Given the description of an element on the screen output the (x, y) to click on. 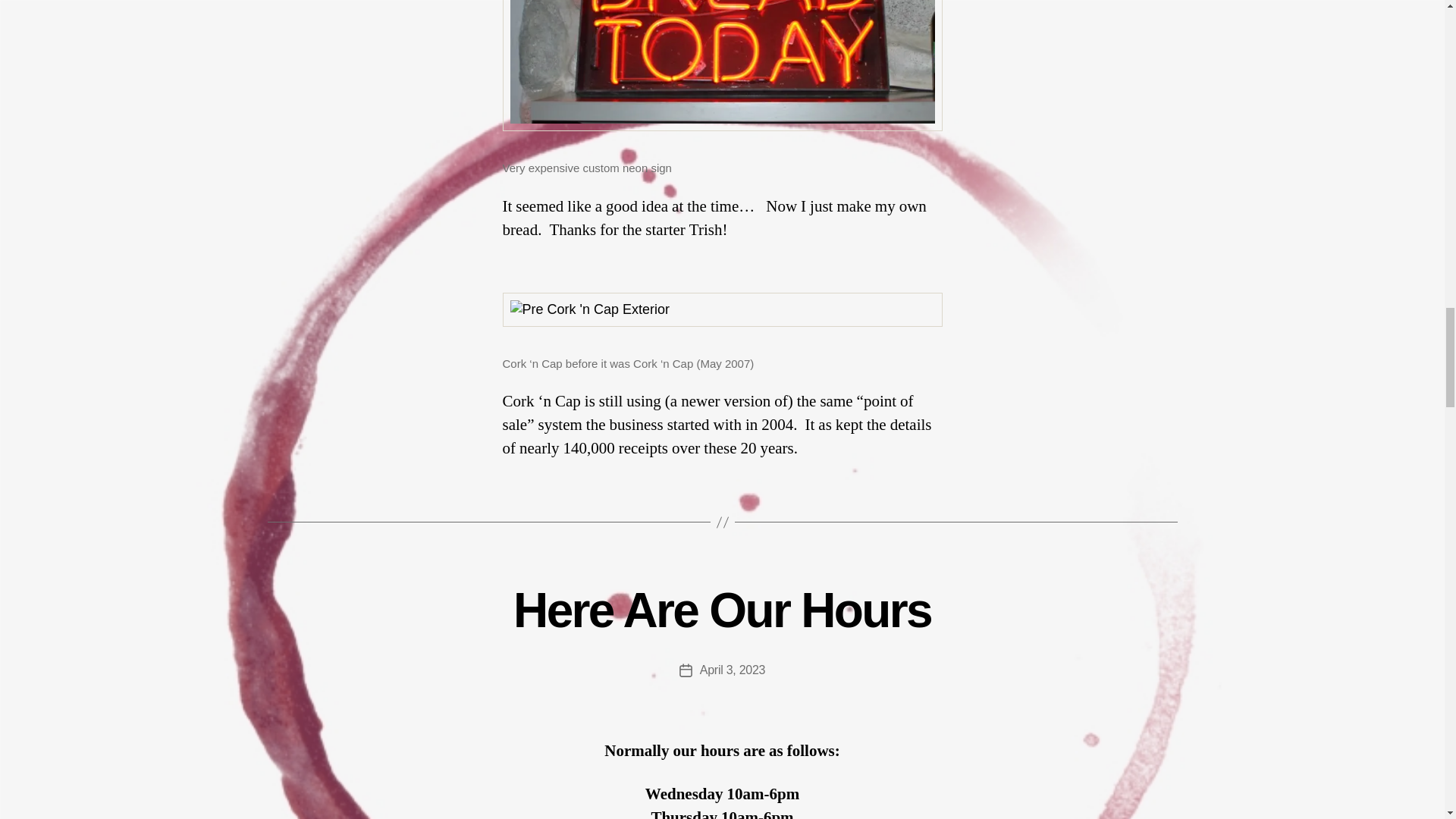
Here Are Our Hours (722, 610)
April 3, 2023 (732, 669)
